Given the description of an element on the screen output the (x, y) to click on. 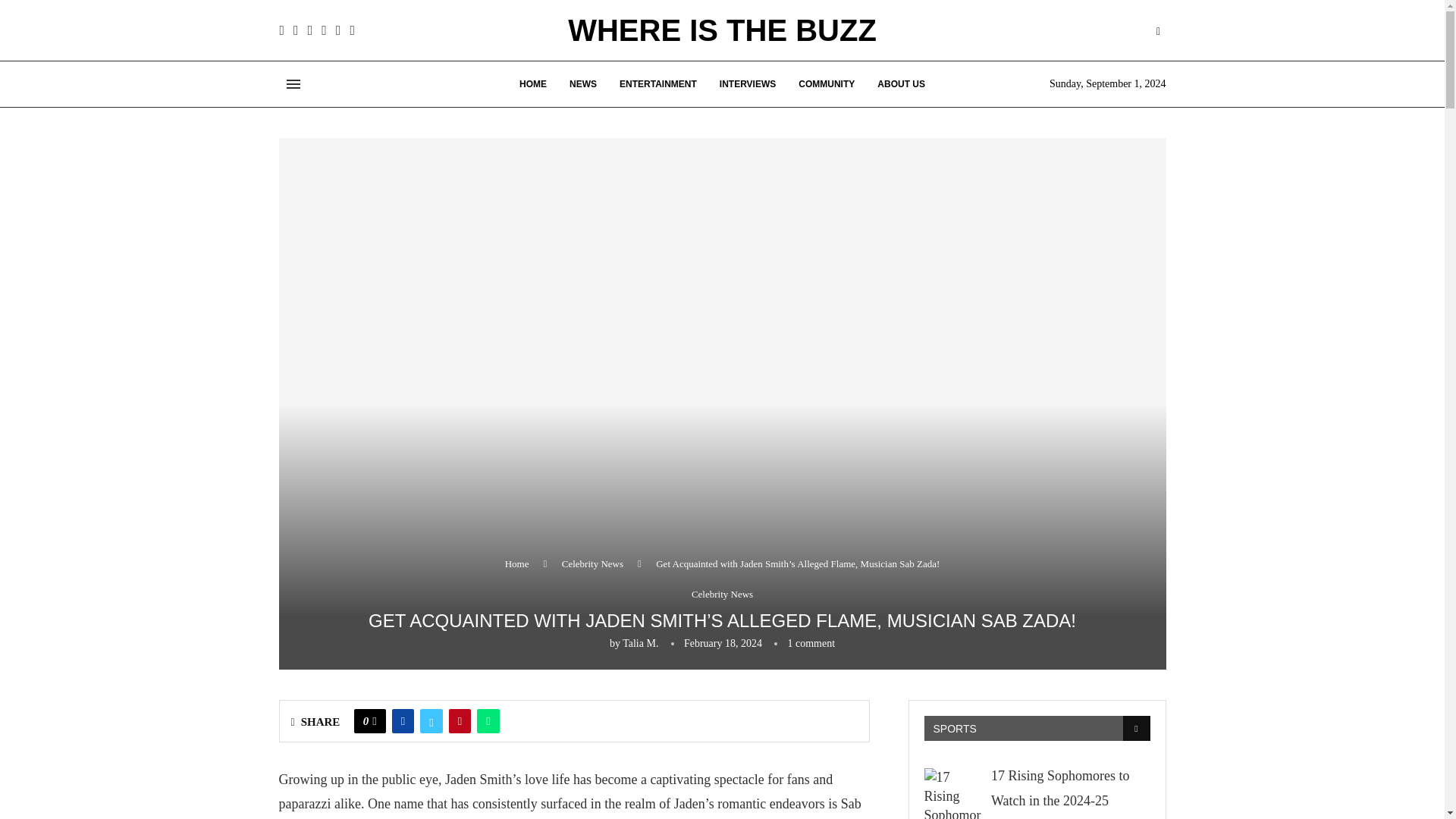
COMMUNITY (825, 83)
ENTERTAINMENT (658, 83)
INTERVIEWS (747, 83)
ABOUT US (900, 83)
NEWS (582, 83)
HOME (533, 83)
WHERE IS THE BUZZ (721, 30)
